Given the description of an element on the screen output the (x, y) to click on. 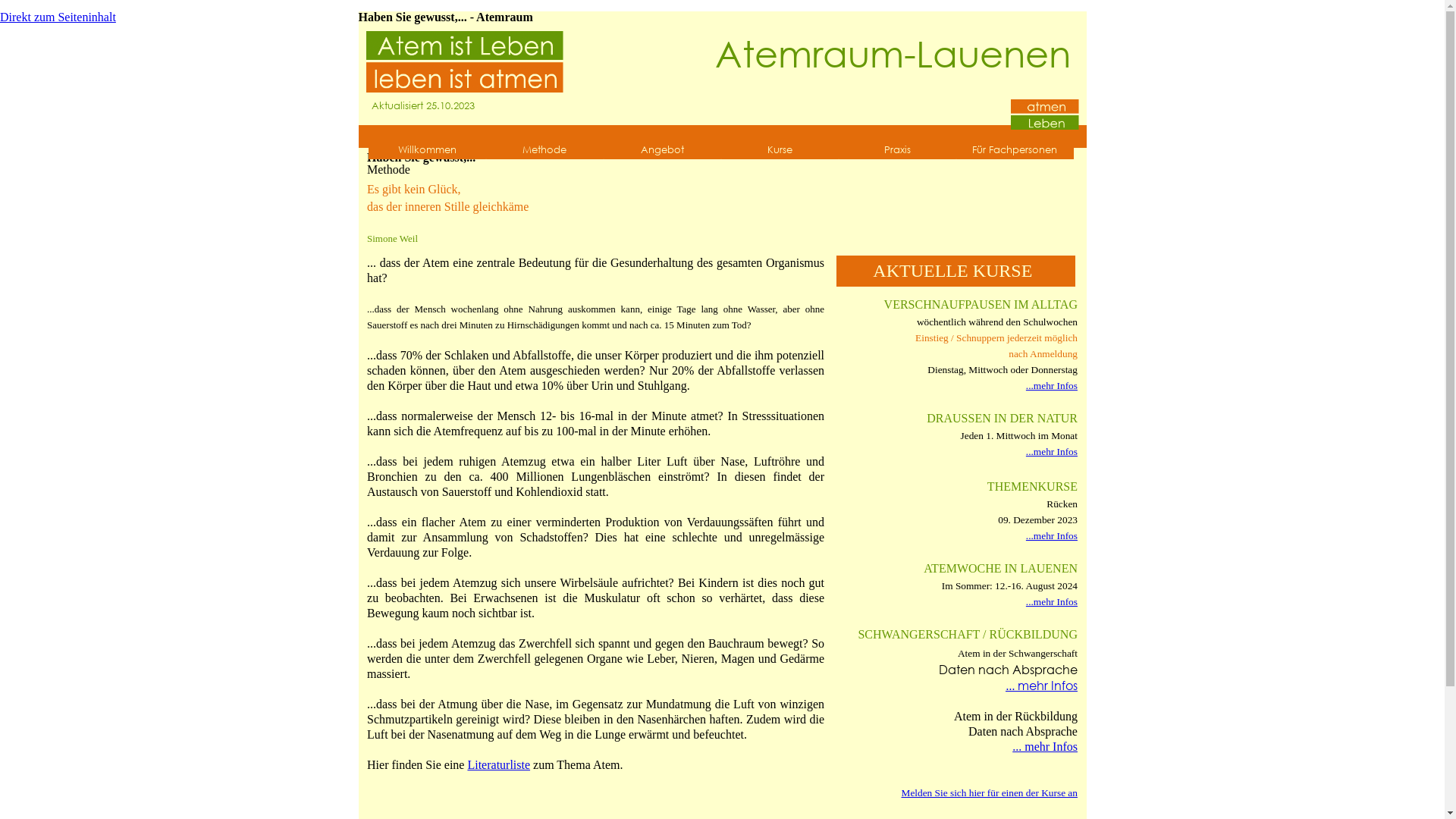
Willkommen Element type: text (426, 150)
Atemraum-Lauenen Element type: text (892, 53)
...mehr Infos Element type: text (1051, 601)
... mehr Infos Element type: text (1044, 746)
Direkt zum Seiteninhalt Element type: text (179, 79)
...mehr Infos Element type: text (1051, 451)
...mehr Infos Element type: text (1051, 535)
Literaturliste Element type: text (498, 764)
...mehr Infos Element type: text (1051, 385)
... mehr Infos Element type: text (1041, 685)
